Given the description of an element on the screen output the (x, y) to click on. 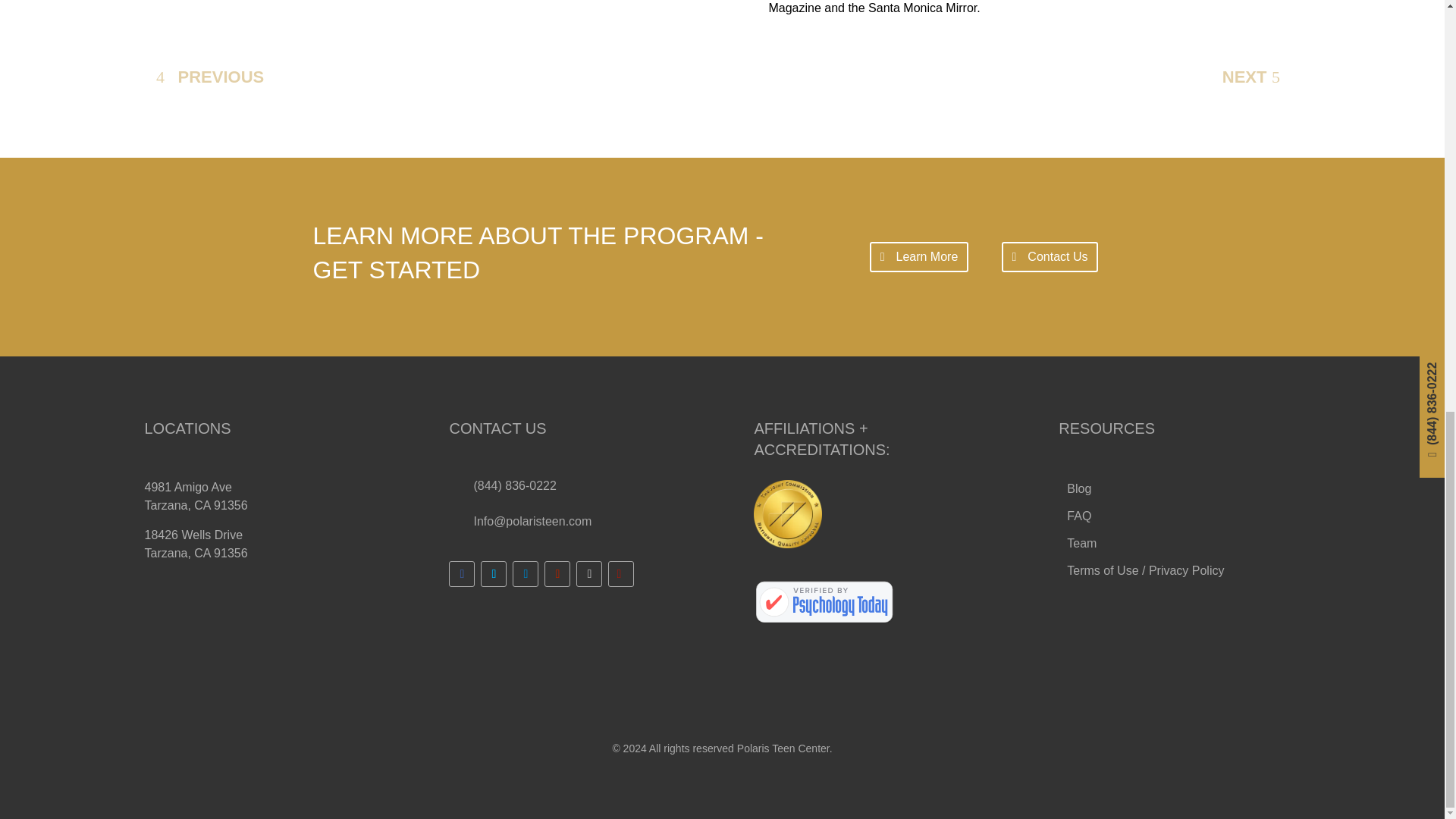
Follow on Facebook (461, 574)
Polaris Teen Center, LLC - Adolescent Residential (824, 602)
Follow on X (493, 574)
Follow on Youtube (557, 574)
footerbutton (1145, 573)
Follow on Instagram (589, 574)
Follow on RSS (620, 574)
joint-commission-polaris-teen-center (788, 513)
Follow on LinkedIn (525, 574)
